Given the description of an element on the screen output the (x, y) to click on. 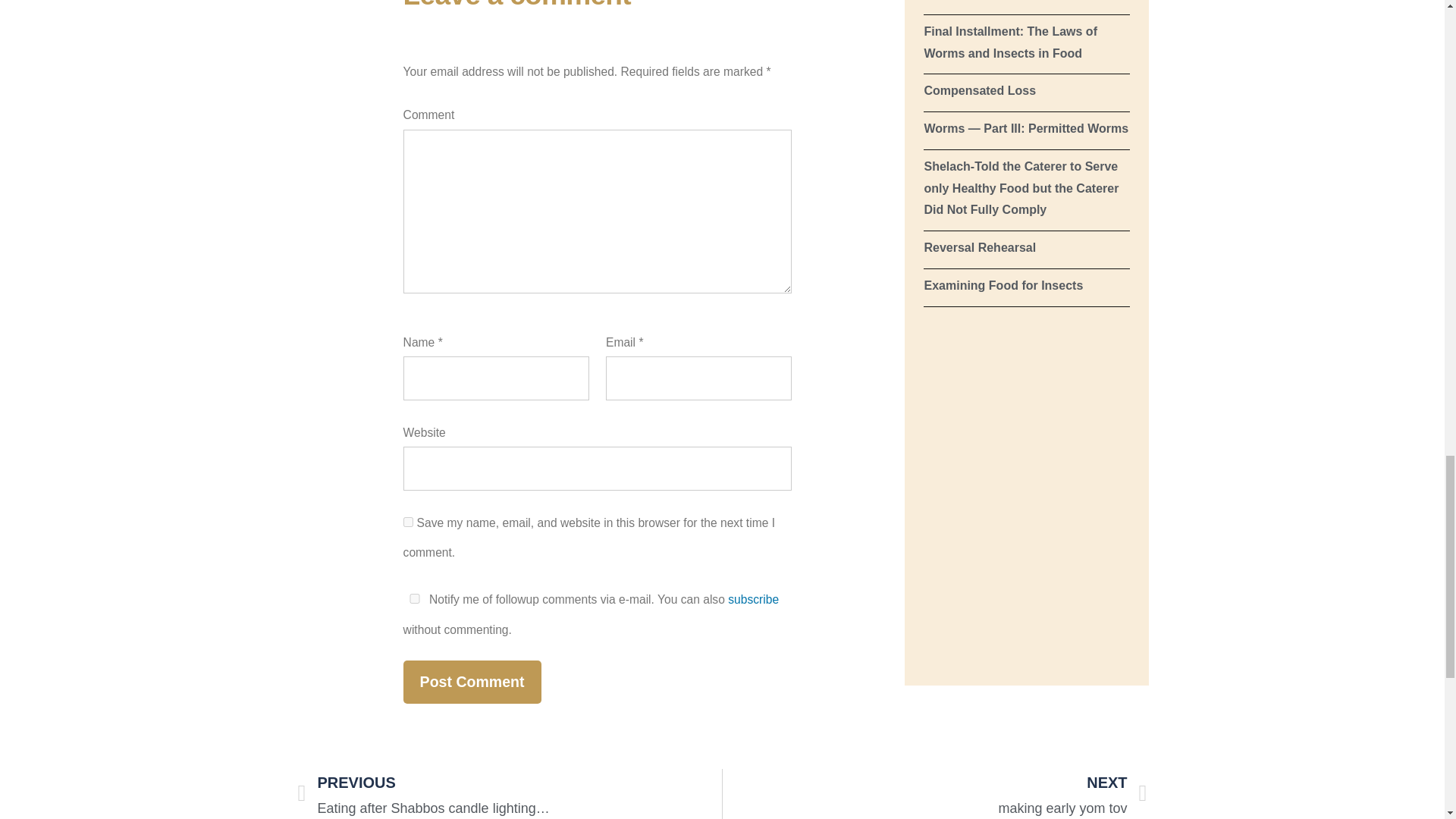
yes (414, 598)
Post Comment (472, 681)
yes (408, 521)
